Given the description of an element on the screen output the (x, y) to click on. 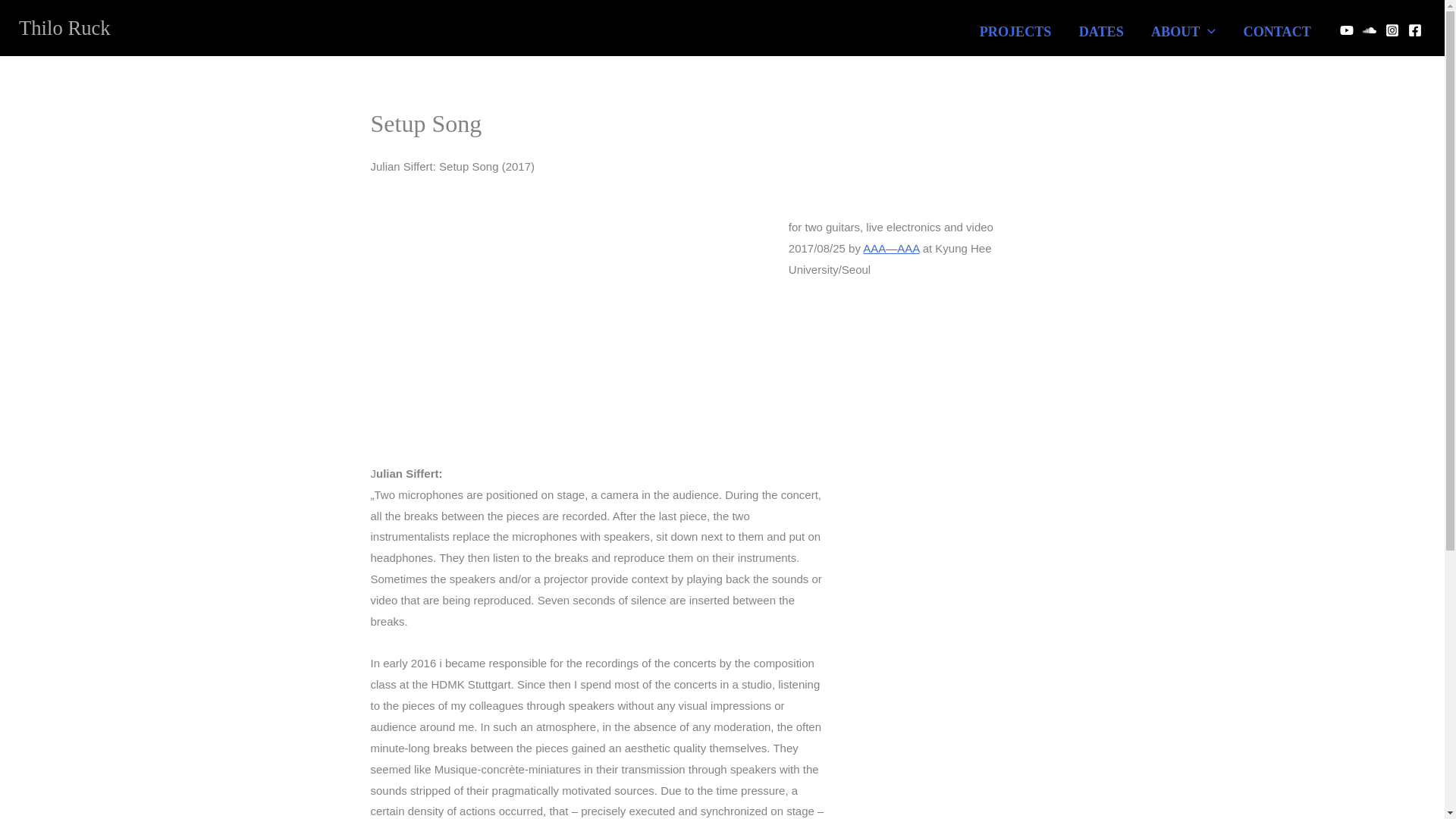
Thilo Ruck (64, 27)
PROJECTS (1015, 24)
CONTACT (1276, 24)
ABOUT (1183, 24)
DATES (1101, 24)
